Given the description of an element on the screen output the (x, y) to click on. 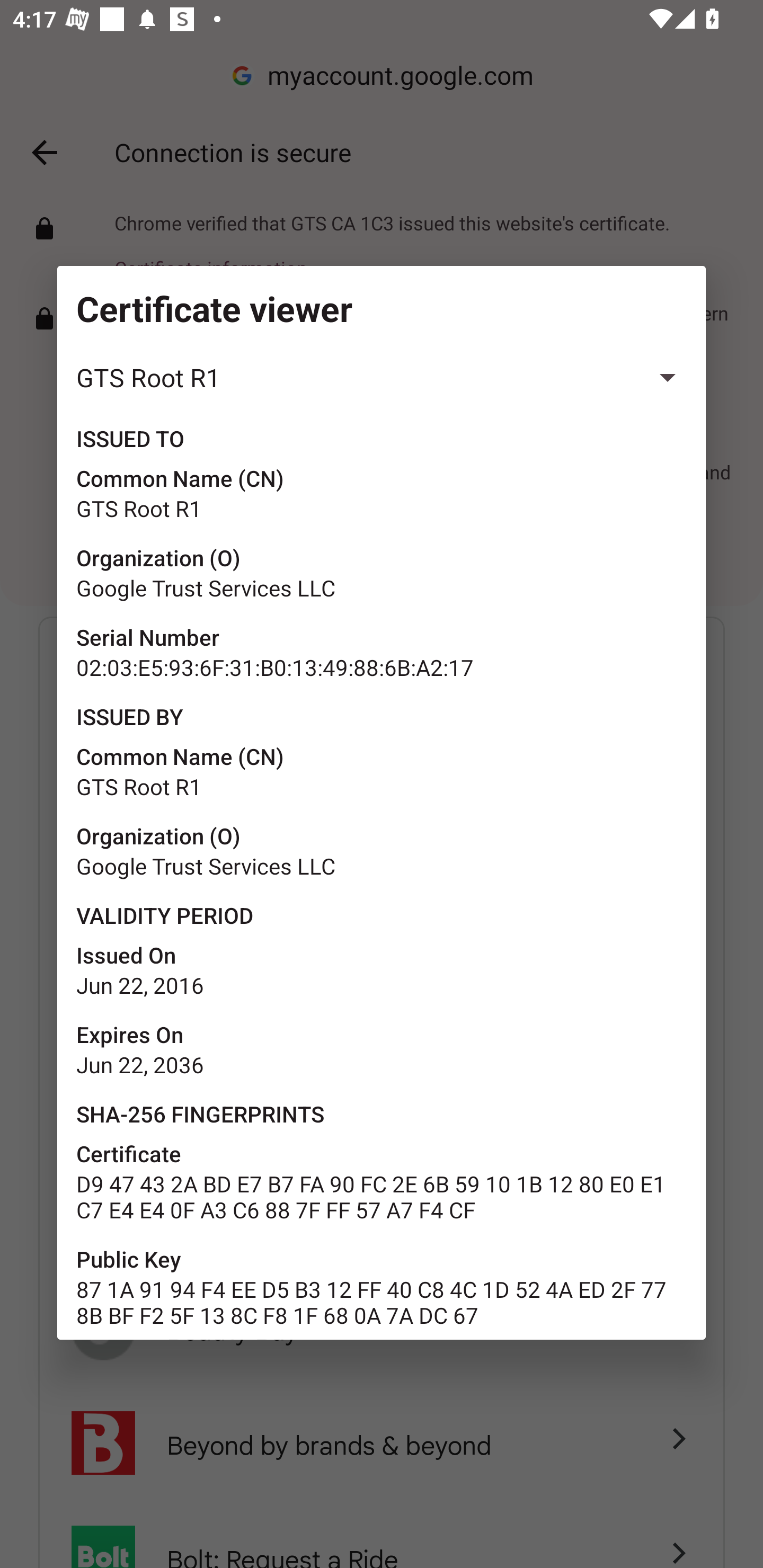
GTS Root R1 (381, 377)
